Given the description of an element on the screen output the (x, y) to click on. 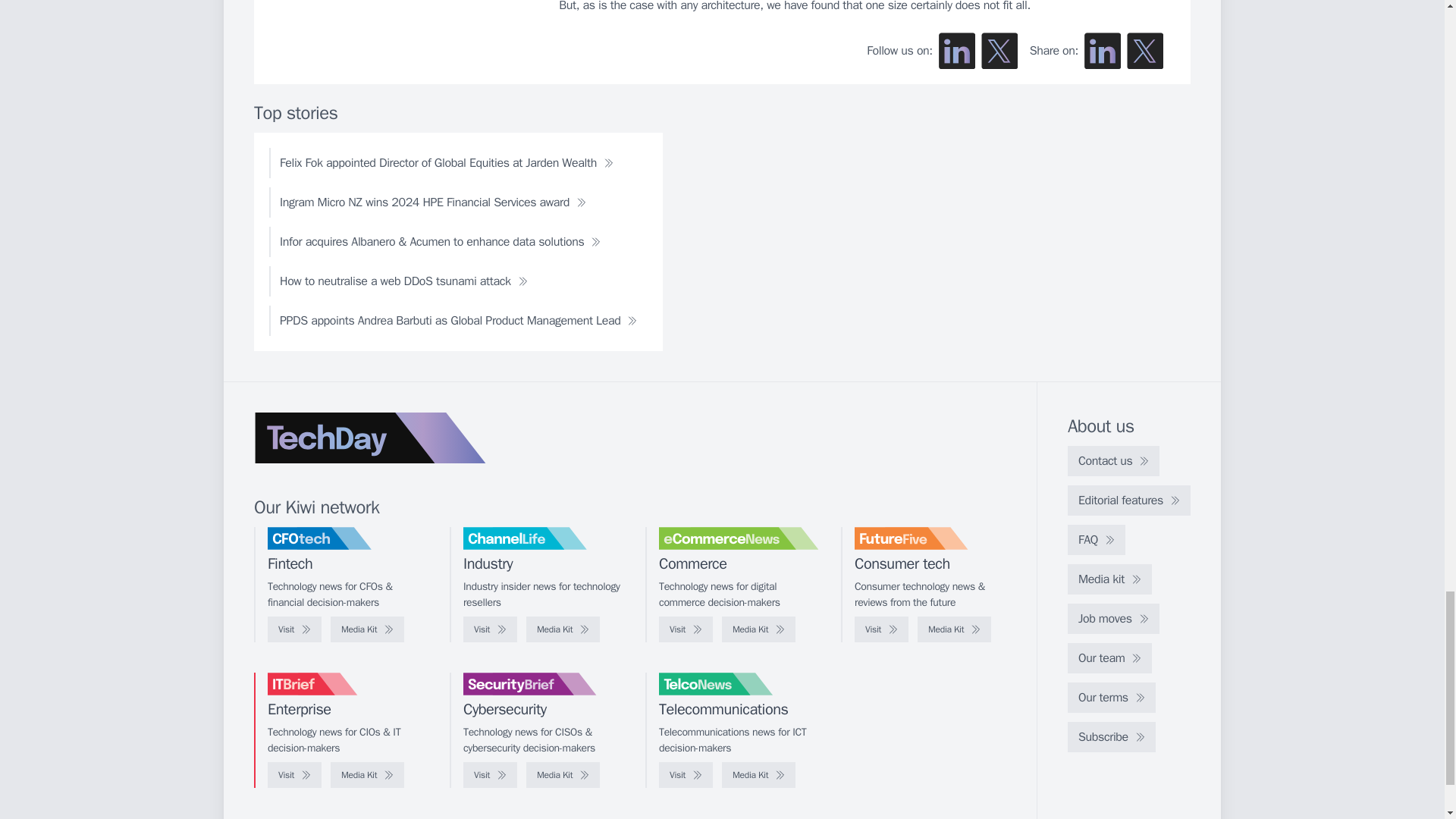
Media Kit (954, 629)
Visit (686, 629)
Visit (489, 629)
Visit (294, 629)
Media Kit (758, 629)
Ingram Micro NZ wins 2024 HPE Financial Services award (432, 202)
Visit (881, 629)
Media Kit (367, 629)
How to neutralise a web DDoS tsunami attack (403, 281)
Media Kit (562, 629)
